Given the description of an element on the screen output the (x, y) to click on. 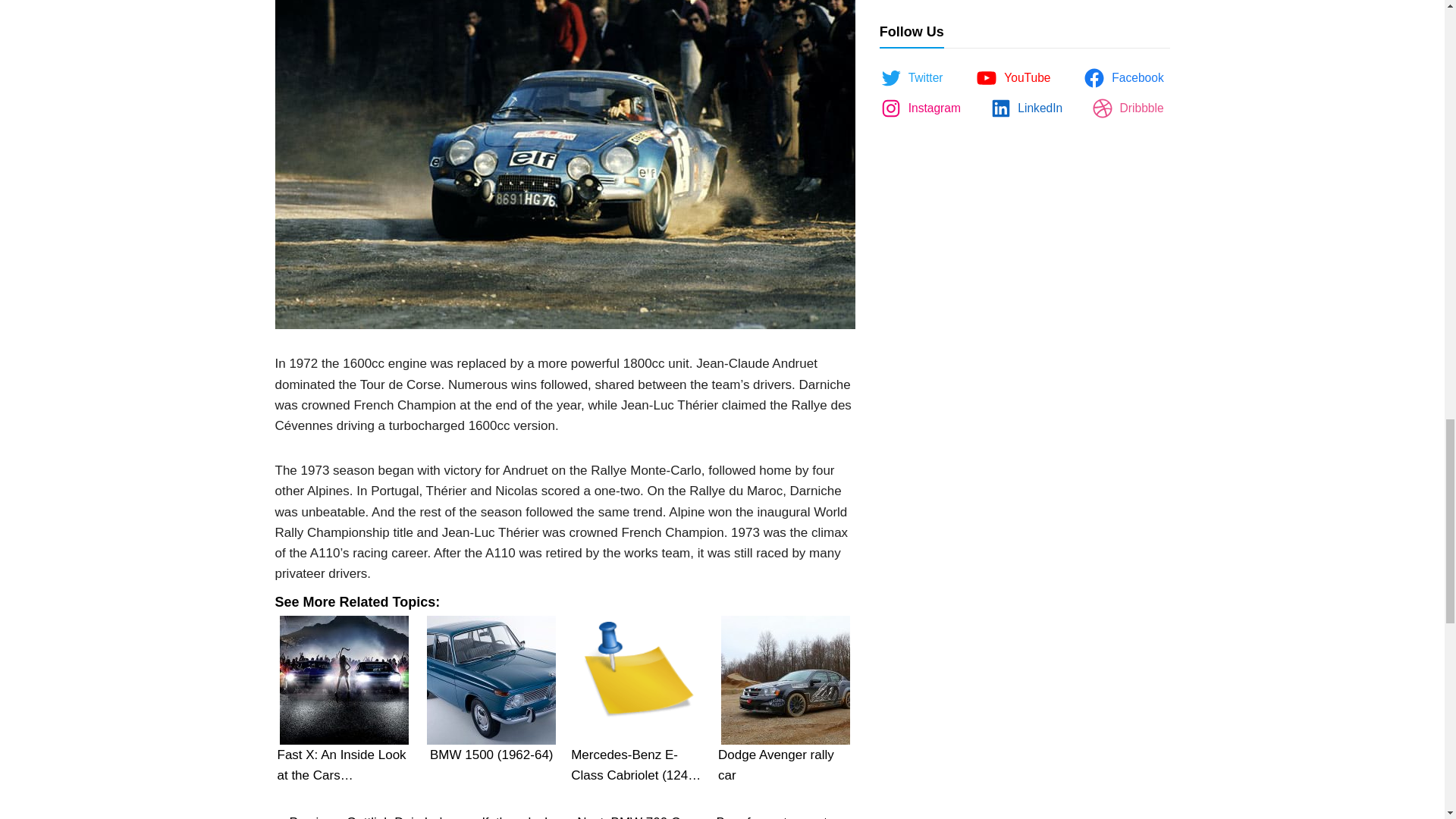
Next: BMW 700 Coupe: Born for motorsport (701, 816)
Dodge Avenger rally car (785, 679)
